Given the description of an element on the screen output the (x, y) to click on. 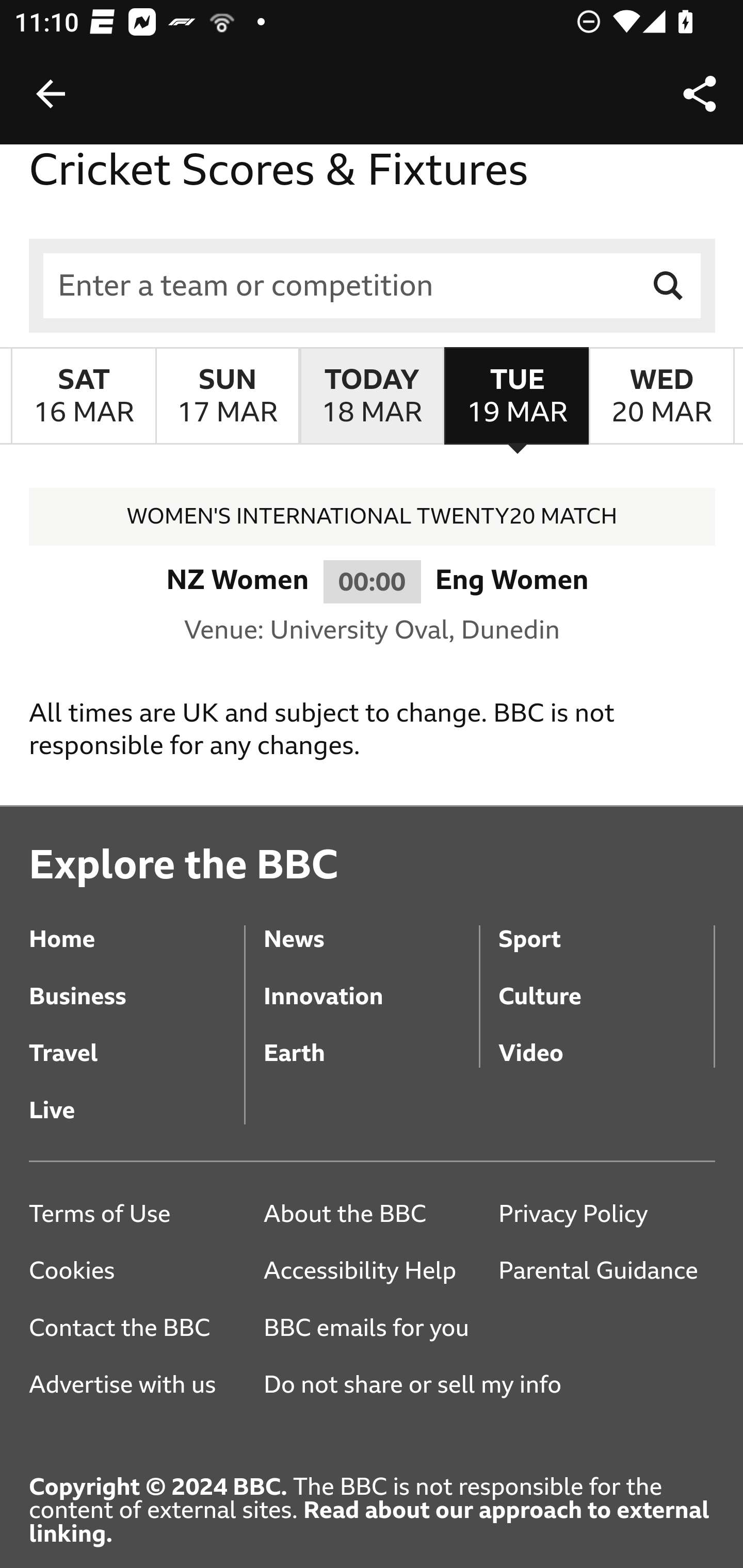
Back (50, 93)
Share (699, 93)
Search (669, 286)
SaturdayMarch 16th Saturday March 16th (83, 396)
SundayMarch 17th Sunday March 17th (227, 396)
TodayMarch 18th Today March 18th (371, 396)
WednesdayMarch 20th Wednesday March 20th (661, 396)
Home (136, 925)
News (370, 925)
Sport (606, 925)
Business (136, 982)
Innovation (370, 982)
Culture (606, 982)
Travel (136, 1040)
Earth (370, 1040)
Video (606, 1040)
Live (136, 1095)
Terms of Use (136, 1214)
About the BBC (370, 1214)
Privacy Policy (606, 1214)
Cookies (136, 1272)
Accessibility Help (370, 1272)
Parental Guidance (606, 1272)
Contact the BBC (136, 1329)
BBC emails for you (372, 1329)
Advertise with us (136, 1386)
Do not share or sell my info (419, 1386)
Read about our approach to external linking. (368, 1522)
